Given the description of an element on the screen output the (x, y) to click on. 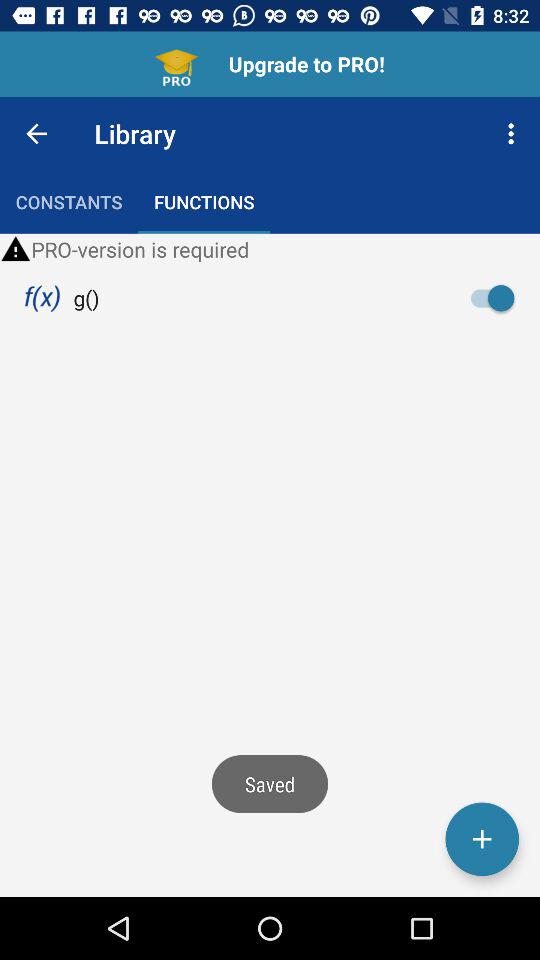
press item to the right of library icon (513, 133)
